Given the description of an element on the screen output the (x, y) to click on. 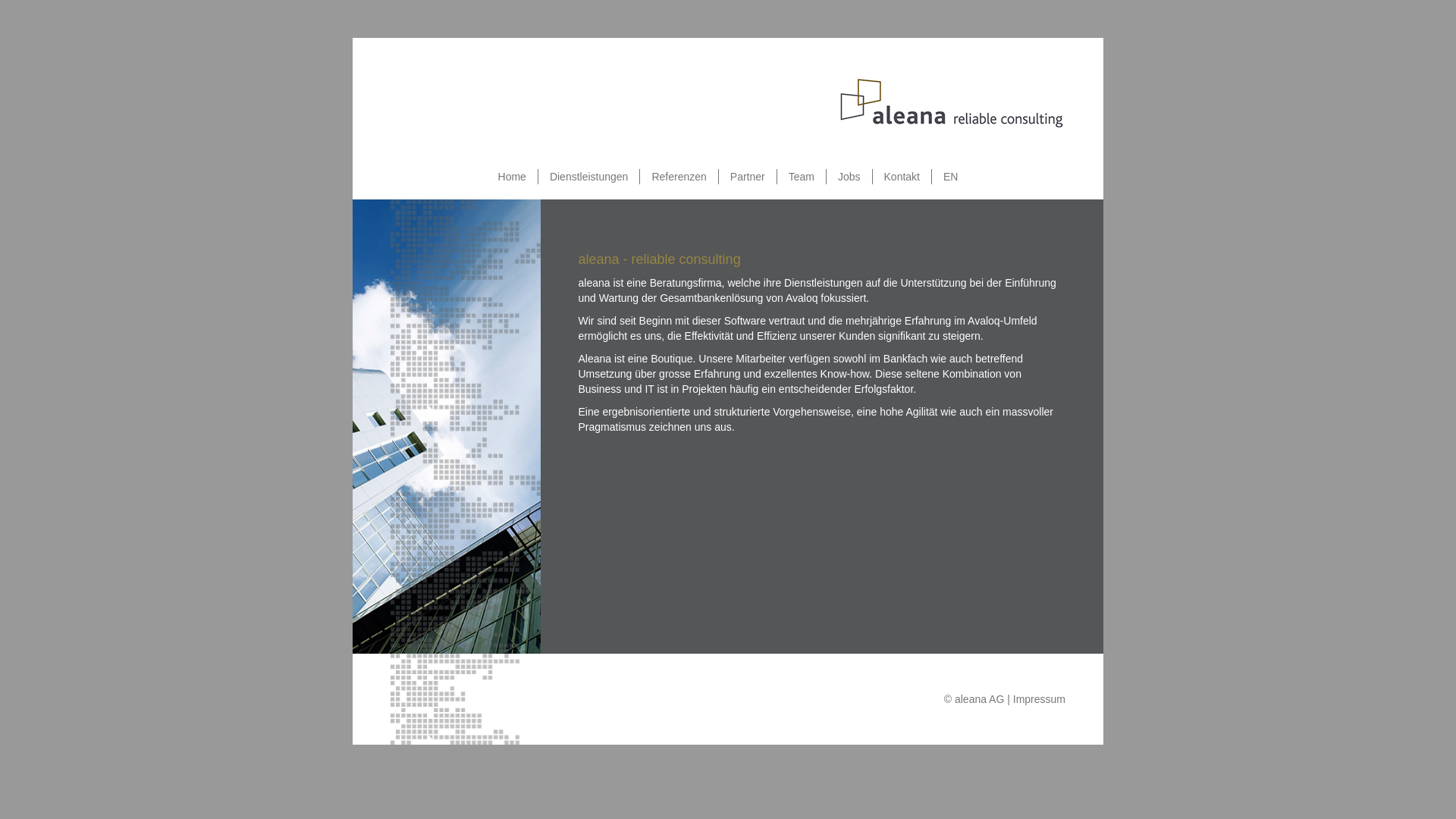
Impressum Element type: text (1039, 699)
Partner Element type: text (747, 176)
Referenzen Element type: text (678, 176)
Dienstleistungen Element type: text (589, 176)
Kontakt Element type: text (901, 176)
Home Element type: text (511, 176)
Team Element type: text (801, 176)
EN Element type: text (950, 176)
Jobs Element type: text (849, 176)
